Given the description of an element on the screen output the (x, y) to click on. 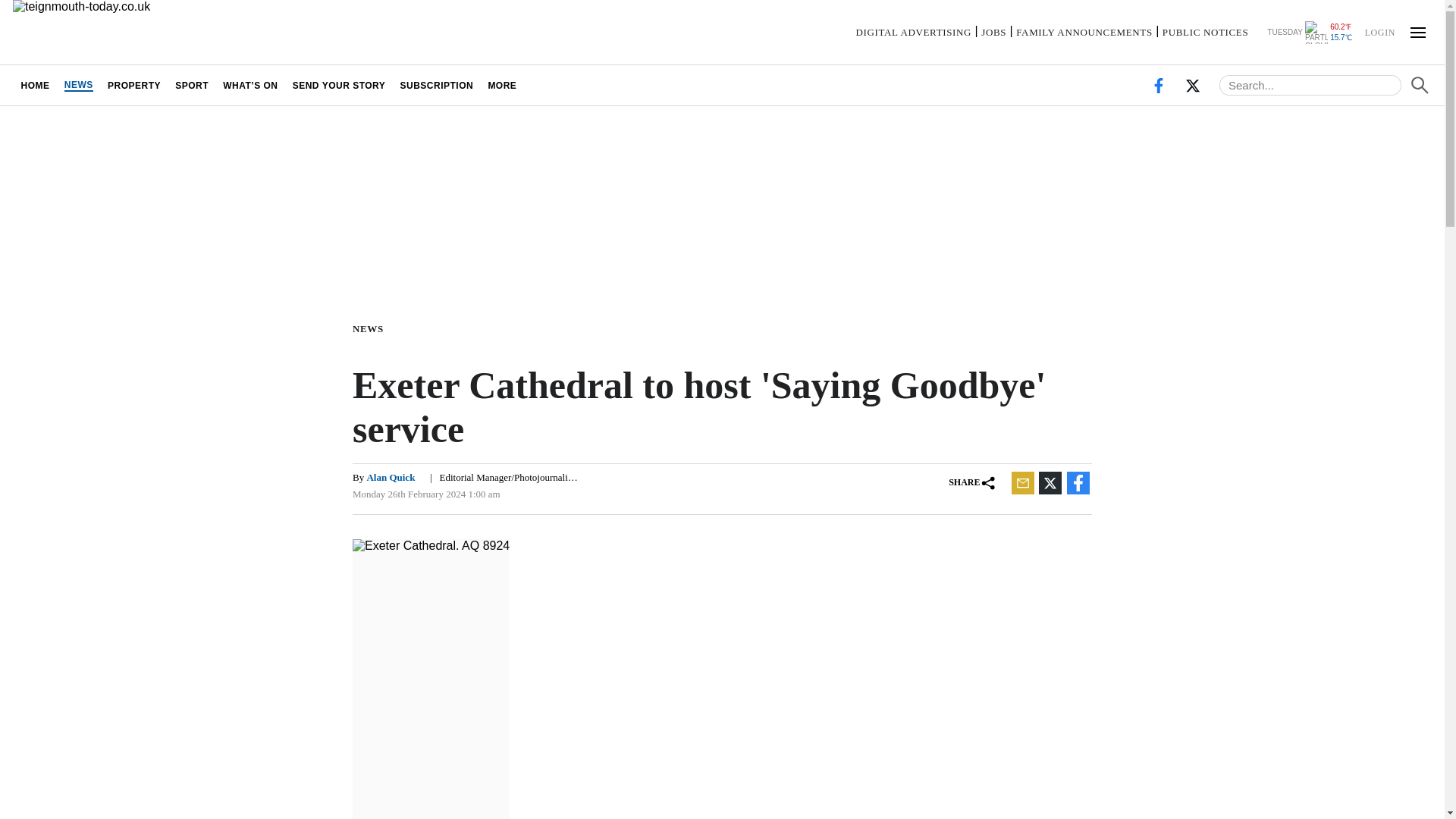
NEWS (78, 85)
SPORT (191, 85)
LOGIN (1379, 31)
SEND YOUR STORY (339, 85)
SUBSCRIPTION (436, 85)
MORE (502, 85)
HOME (34, 85)
NEWS (371, 328)
PUBLIC NOTICES (1204, 32)
PROPERTY (133, 85)
Alan Quick (390, 477)
